Given the description of an element on the screen output the (x, y) to click on. 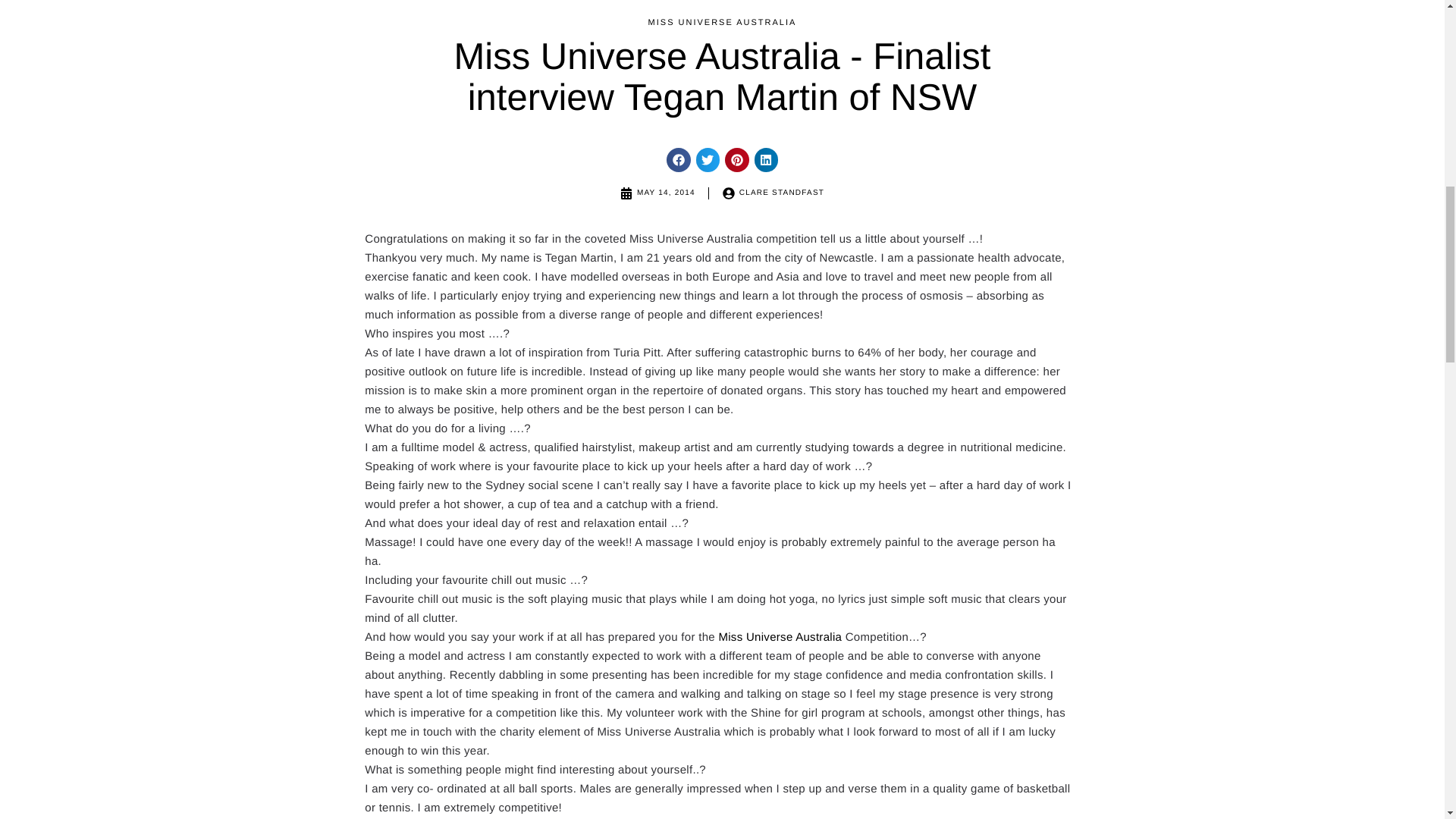
Miss Universe Australia (779, 636)
